Given the description of an element on the screen output the (x, y) to click on. 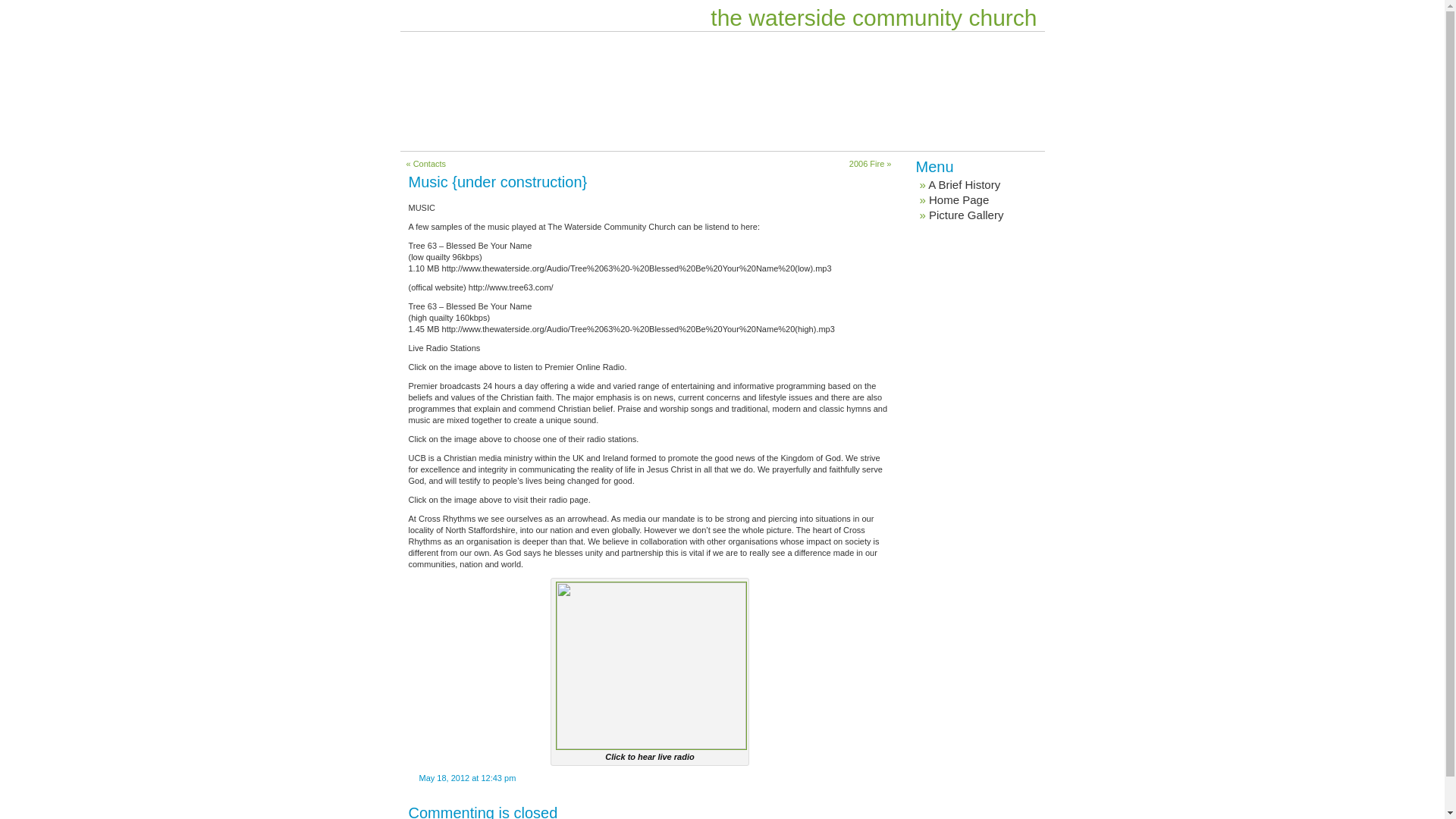
Home Page Element type: text (958, 199)
Picture Gallery Element type: text (965, 214)
A Brief History Element type: text (964, 184)
the waterside community church Element type: text (873, 17)
May 18, 2012 at 12:43 pm Element type: text (461, 777)
Premier Radio Element type: hover (650, 665)
